Given the description of an element on the screen output the (x, y) to click on. 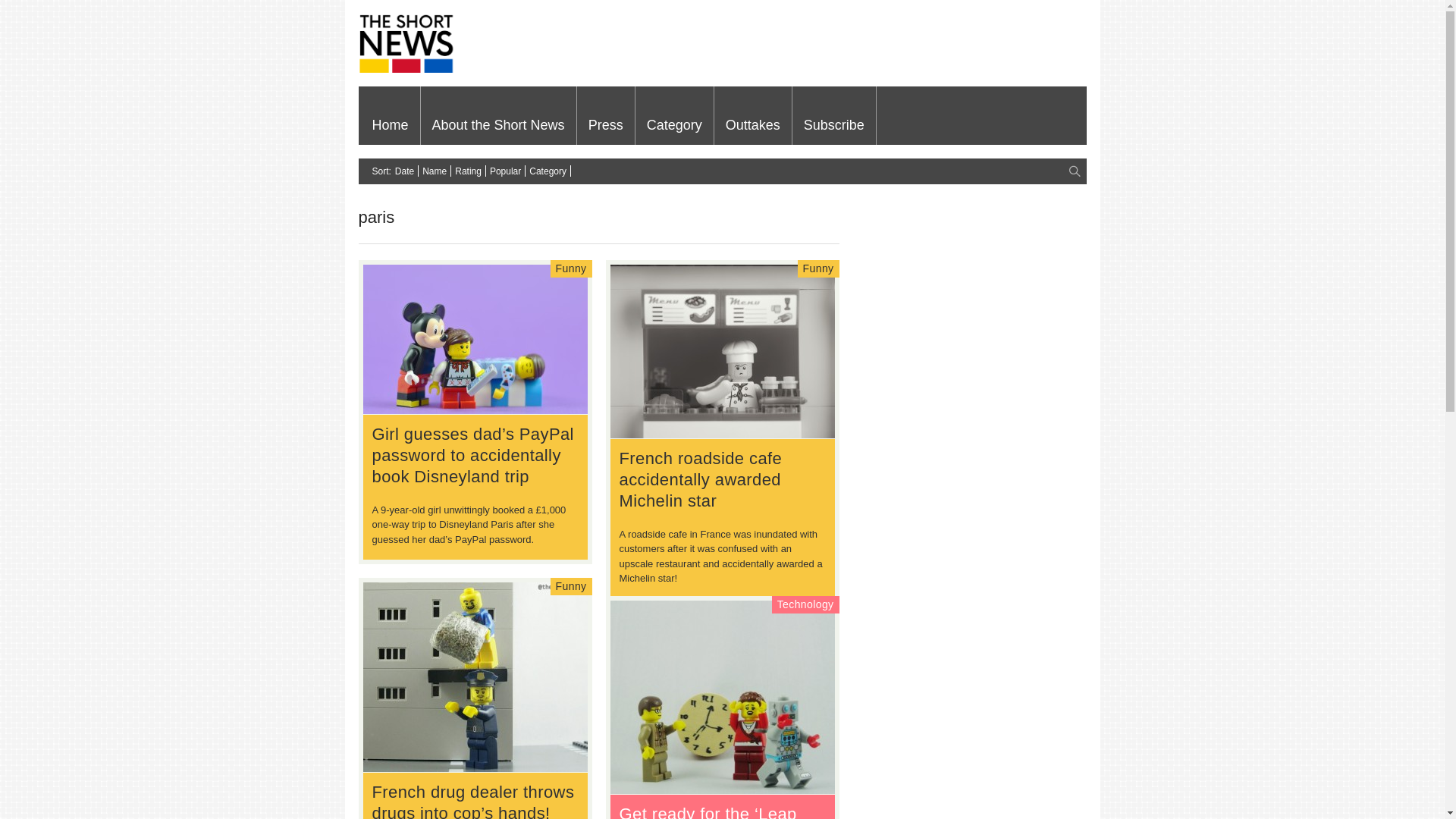
About the Short News (498, 115)
Funny (571, 268)
Category (547, 171)
Name (434, 171)
Popular (505, 171)
Category (673, 115)
Home (390, 115)
Date (403, 171)
Outtakes (753, 115)
Press (605, 115)
Sort: (380, 171)
Rating (467, 171)
Subscribe (834, 115)
